Given the description of an element on the screen output the (x, y) to click on. 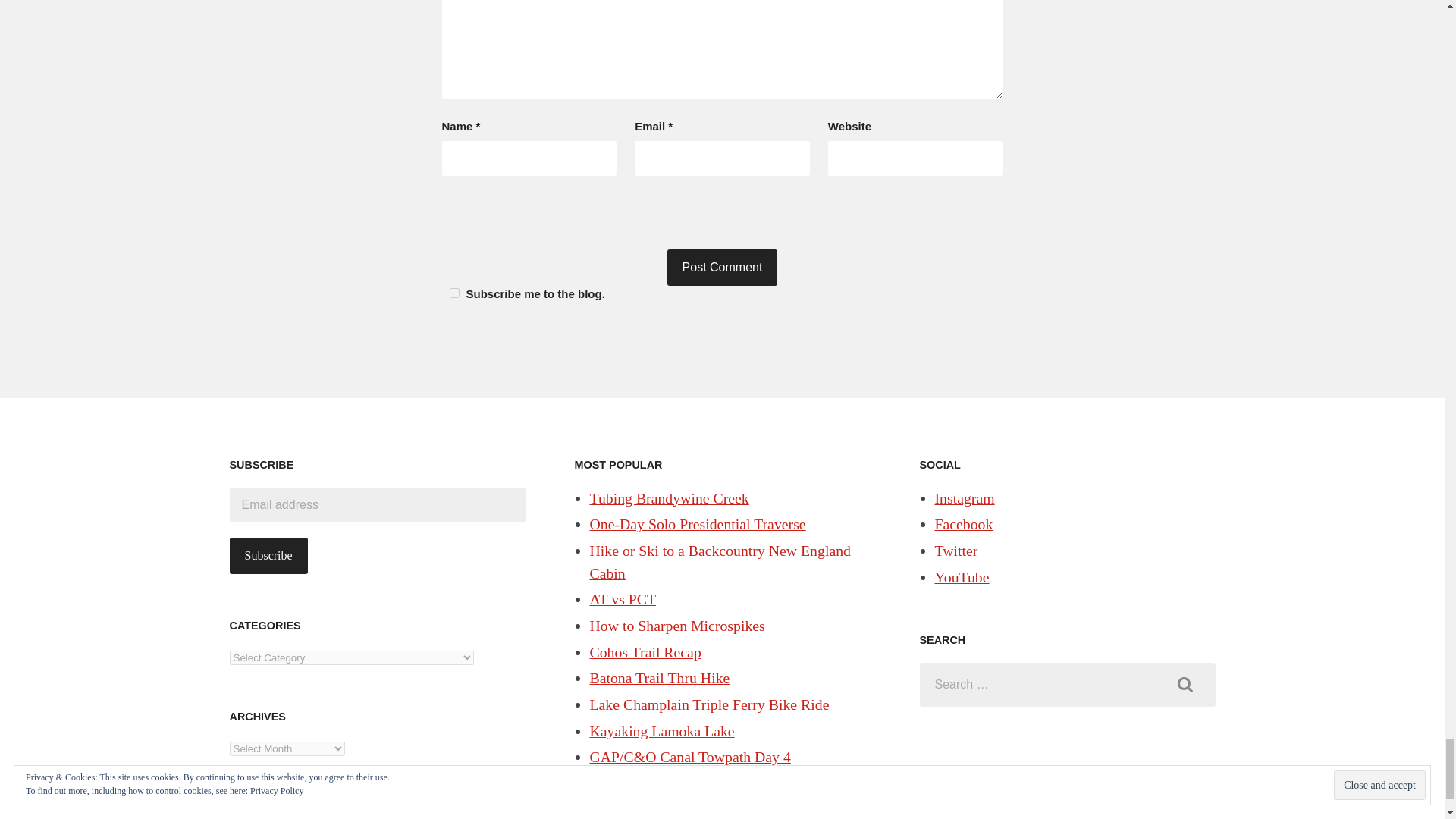
Subscribe (267, 555)
1 (453, 293)
Email address (376, 504)
Search (1184, 684)
Search (1184, 684)
Post Comment (721, 267)
Hike or Ski to a Backcountry New England Cabin (719, 561)
One-Day Solo Presidential Traverse (697, 523)
Tubing Brandywine Creek (669, 497)
